Given the description of an element on the screen output the (x, y) to click on. 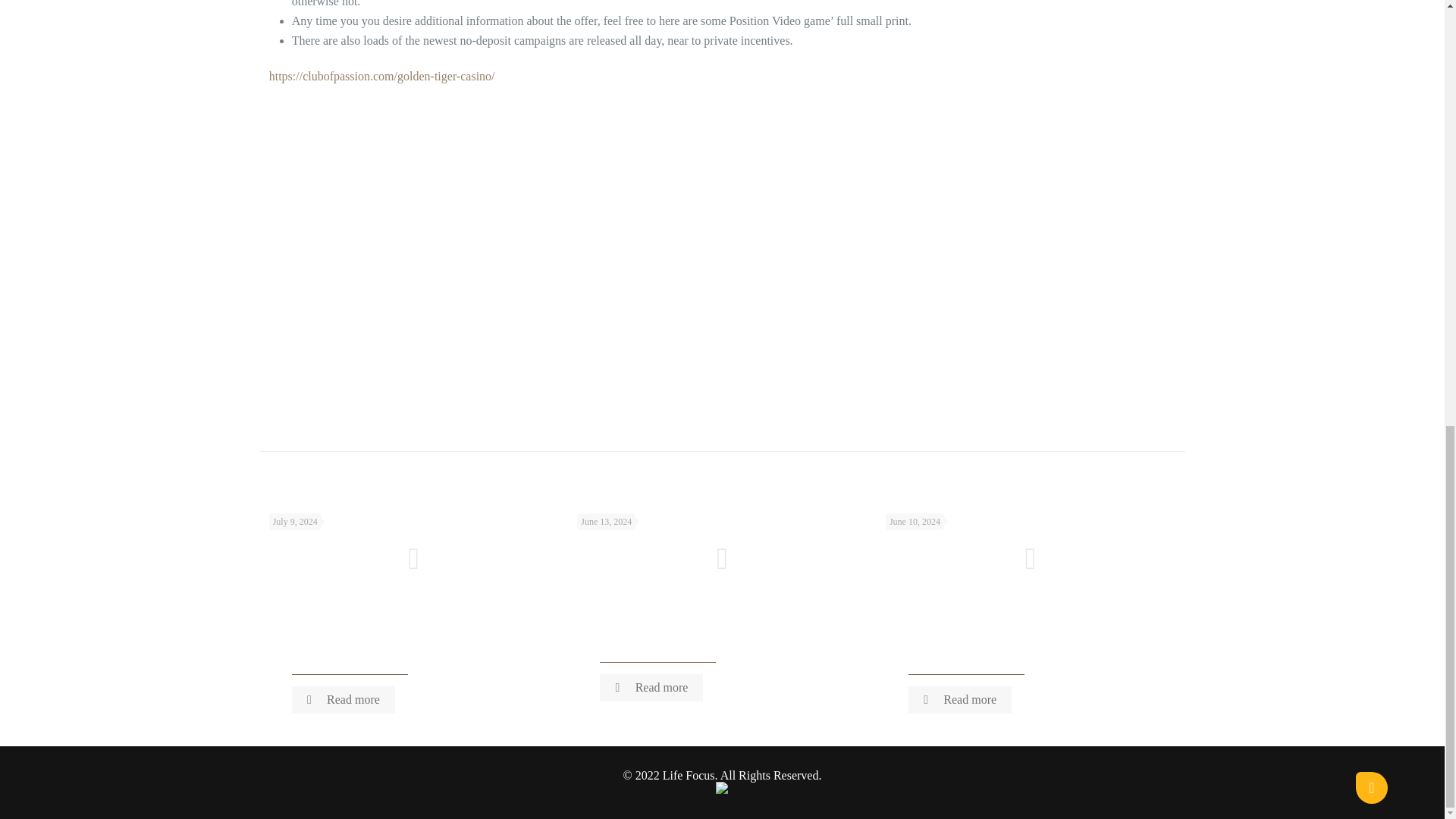
Read more (651, 687)
Read more (959, 699)
Read more (343, 699)
